Given the description of an element on the screen output the (x, y) to click on. 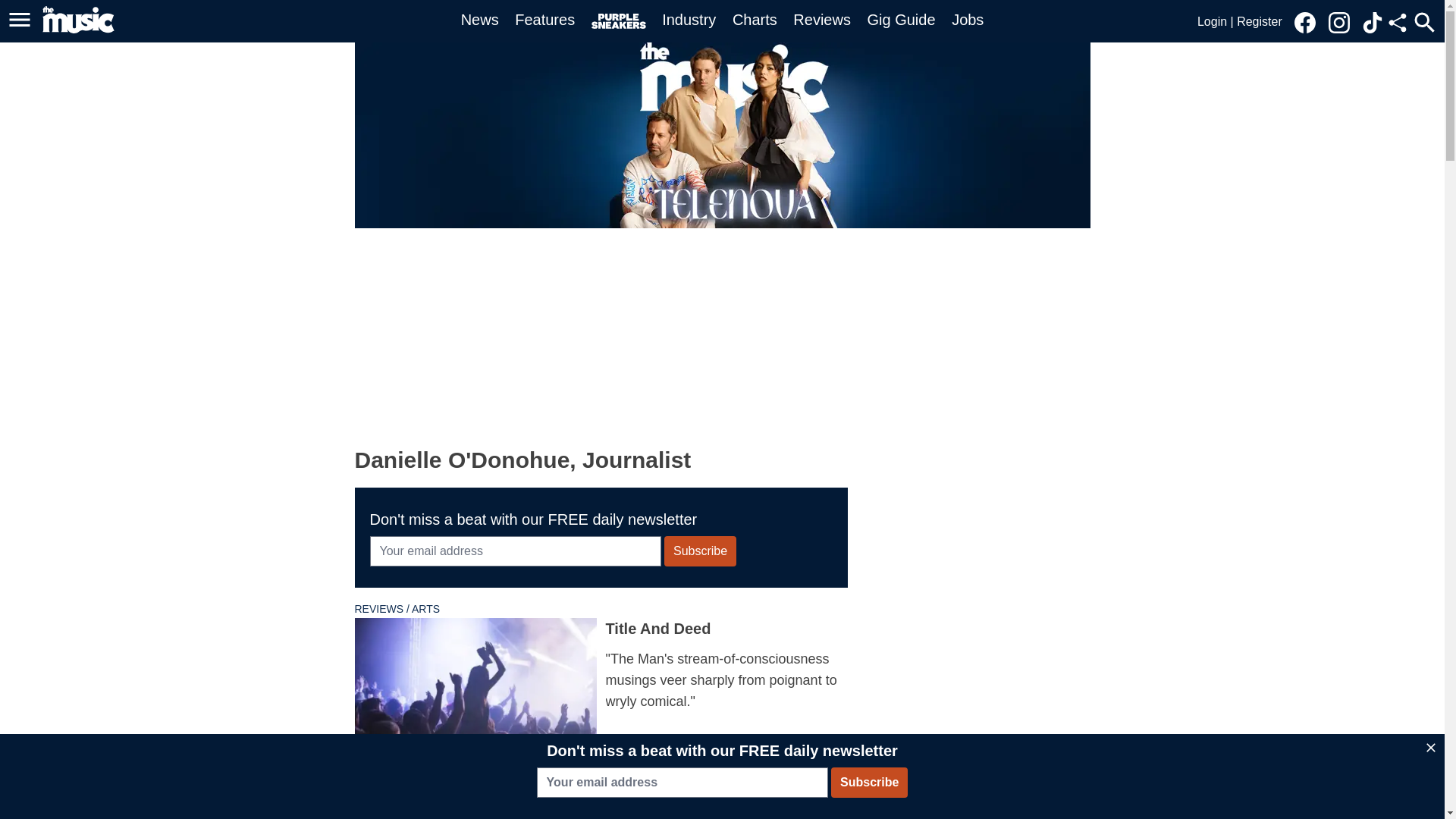
Gig Guide (901, 19)
Share this page (1397, 22)
Open the site search menu (1424, 22)
Link to our Facebook (1305, 22)
Industry (689, 19)
Subscribe (699, 551)
Link to our Facebook (1309, 21)
News (480, 19)
Link to our Instagram (1342, 21)
Open the site search menu (1424, 22)
